Given the description of an element on the screen output the (x, y) to click on. 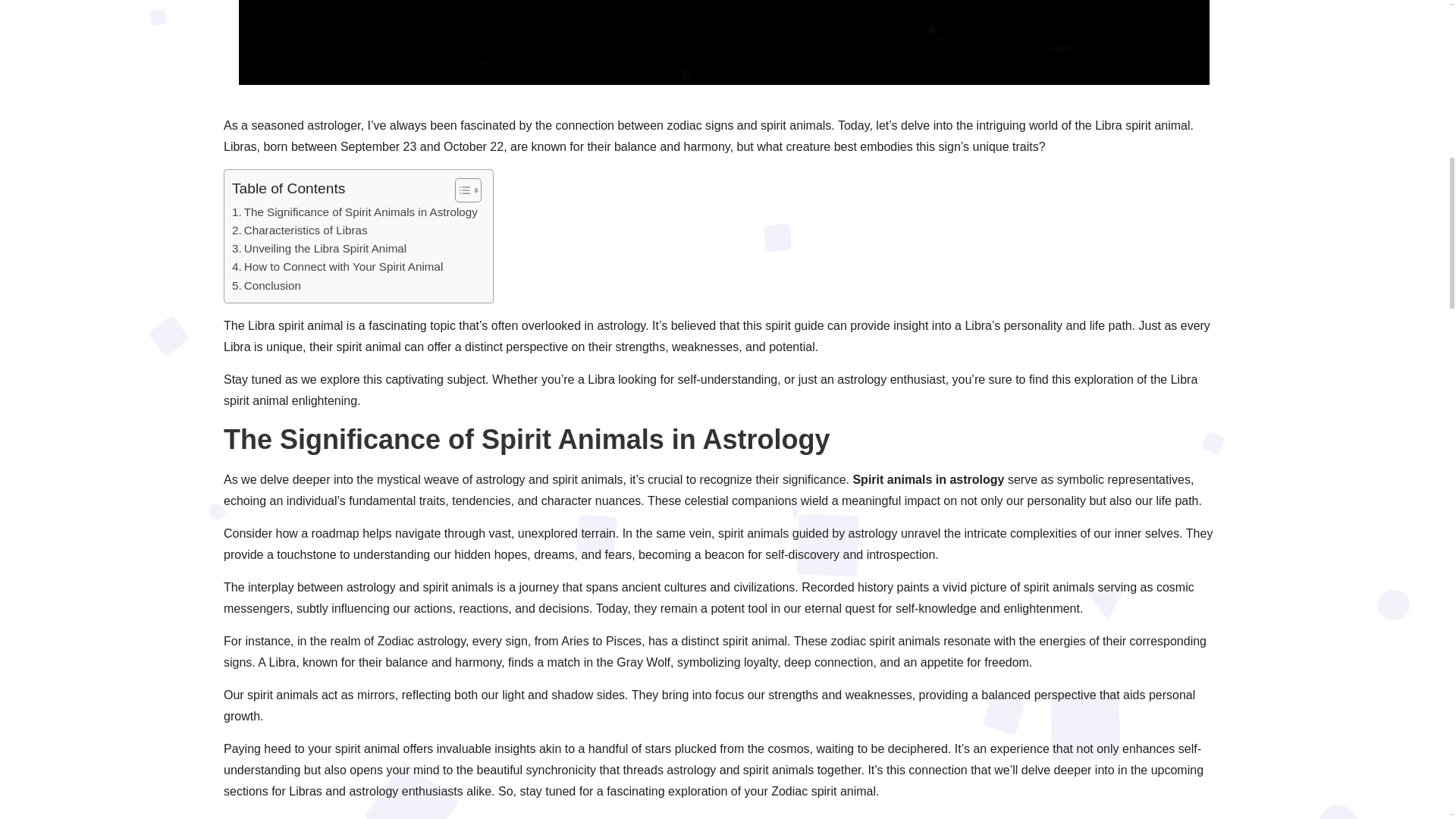
How to Connect with Your Spirit Animal (336, 266)
Conclusion (266, 285)
The Significance of Spirit Animals in Astrology (354, 212)
Unveiling the Libra Spirit Animal (318, 248)
Characteristics of Libras (299, 230)
